Given the description of an element on the screen output the (x, y) to click on. 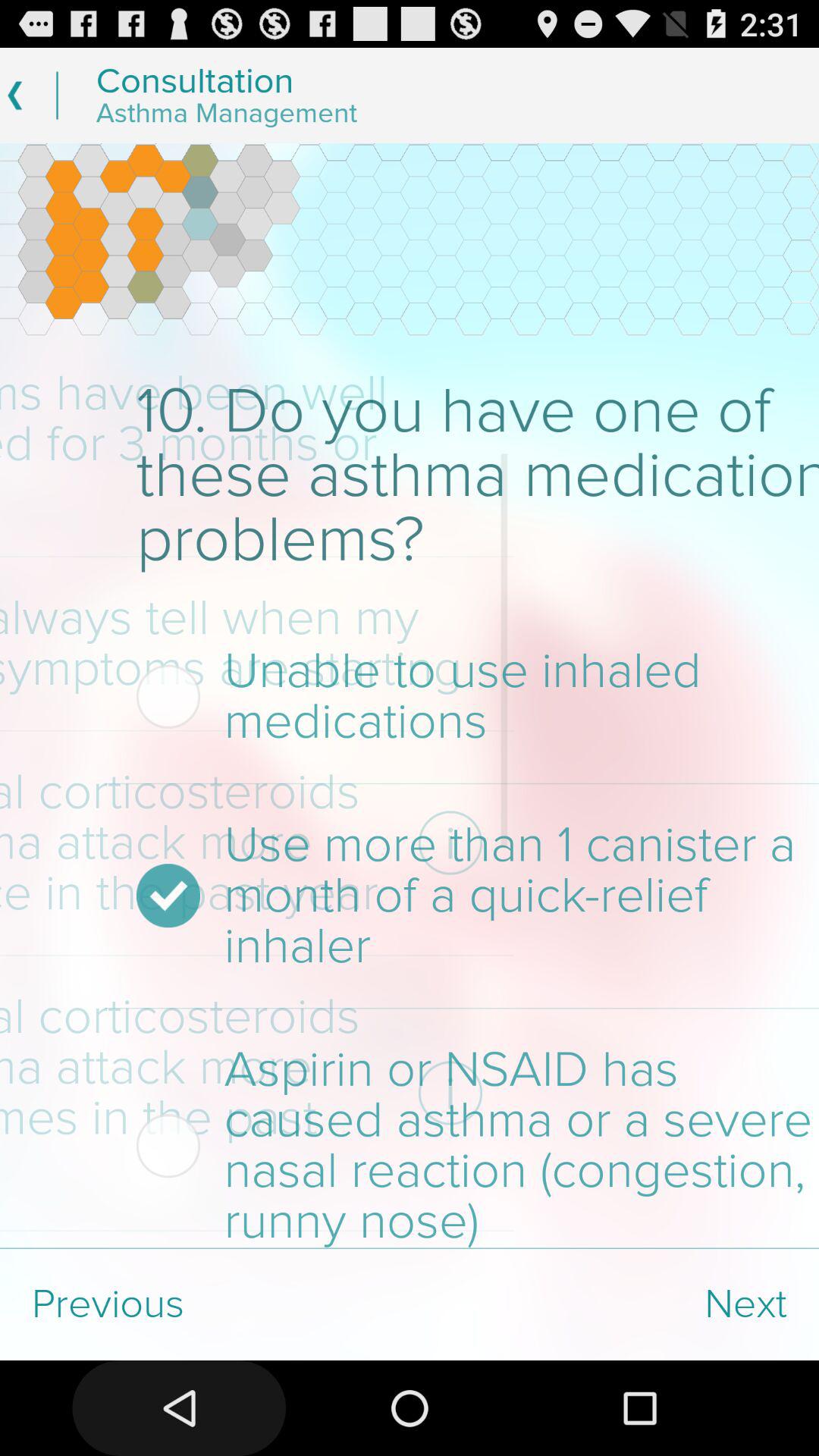
open icon to the left of the next icon (204, 1304)
